Given the description of an element on the screen output the (x, y) to click on. 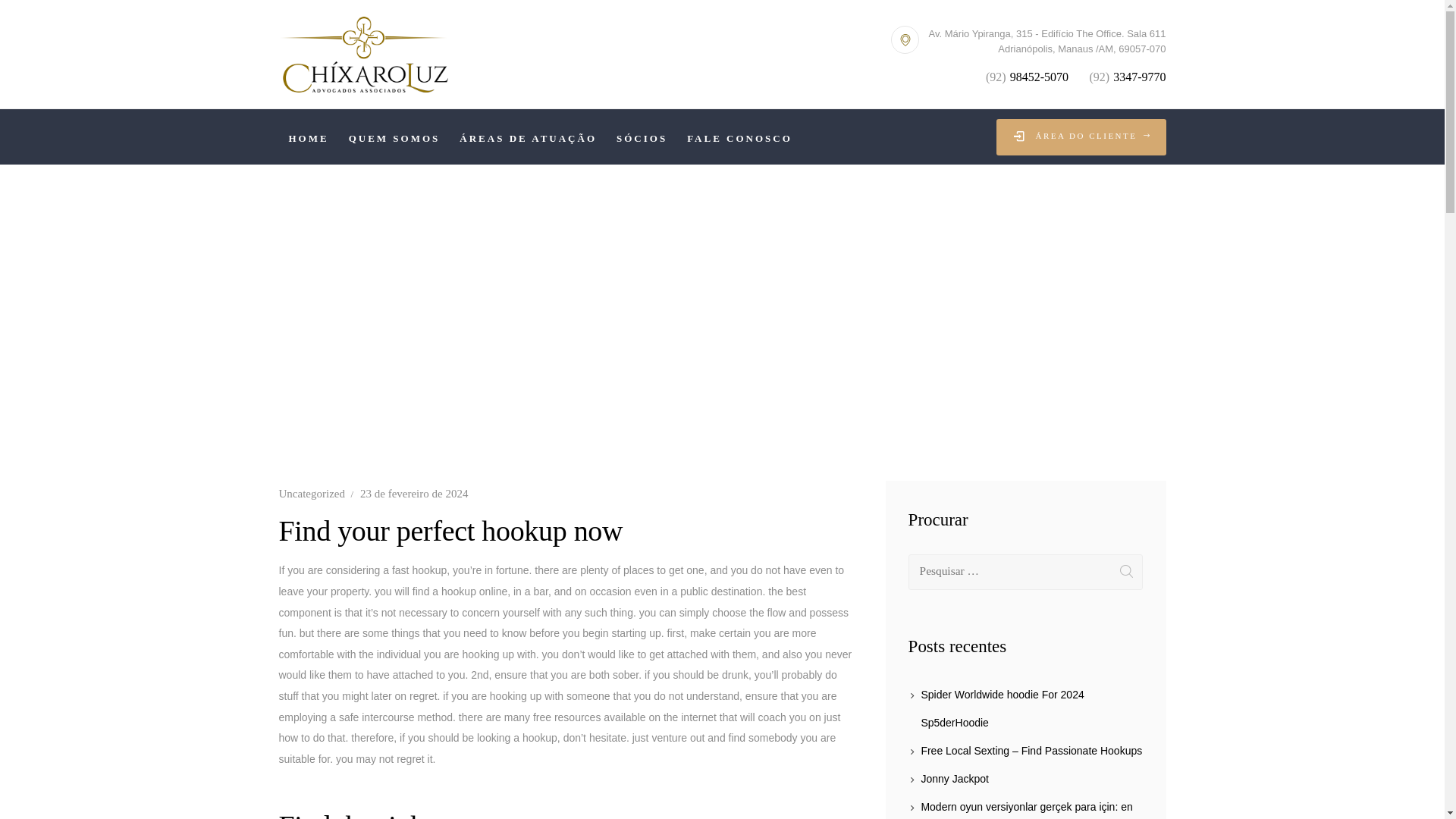
Jonny Jackpot (954, 778)
FALE CONOSCO (739, 136)
QUEM SOMOS (394, 136)
HOME (309, 136)
Pesquisar (1124, 571)
Home (524, 323)
Uncategorized (312, 493)
Spider Worldwide hoodie For 2024 Sp5derHoodie (1001, 708)
23 de fevereiro de 2024 (413, 493)
Pesquisar (1124, 571)
Pesquisar (1124, 571)
